Given the description of an element on the screen output the (x, y) to click on. 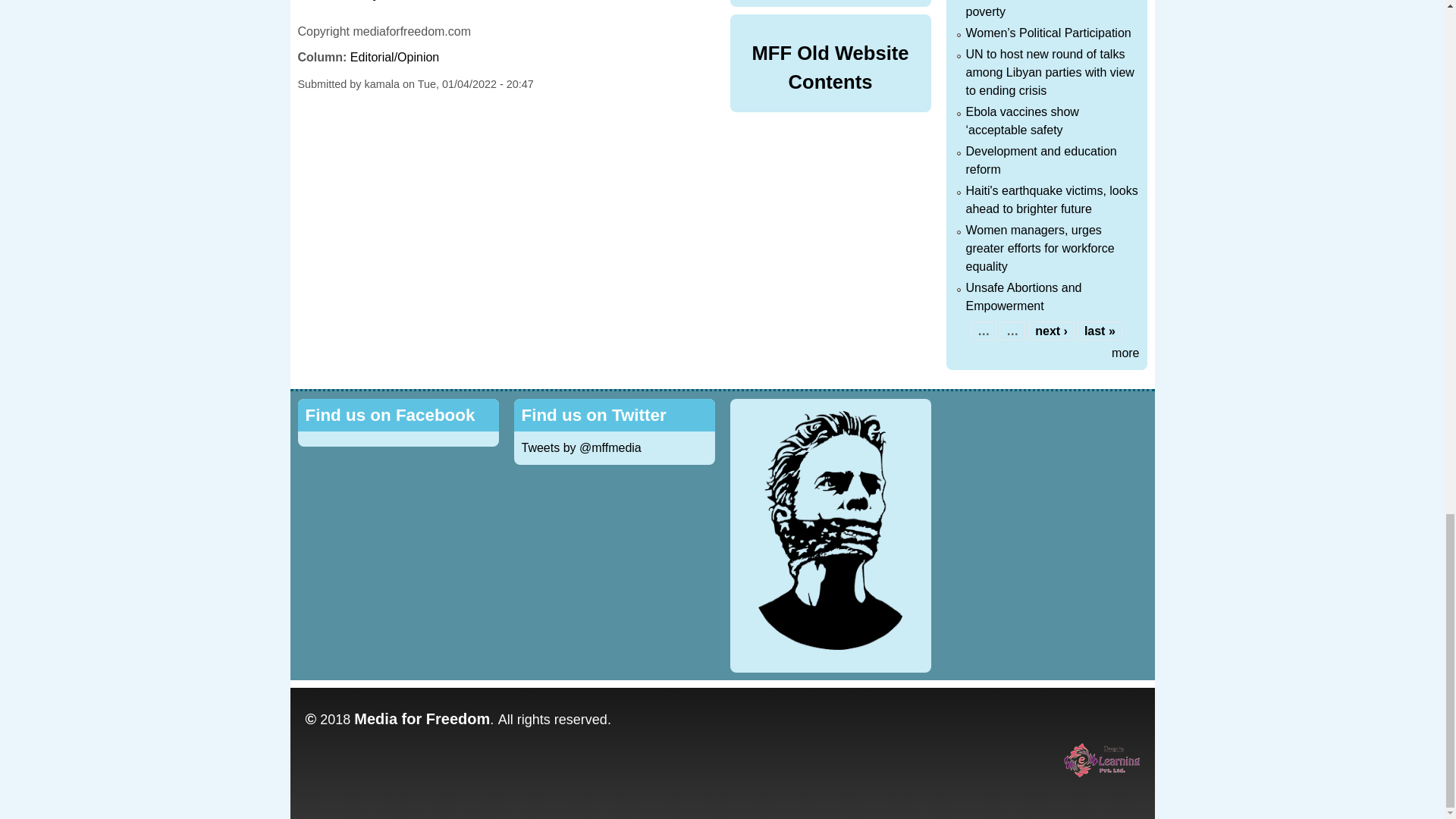
MFF Old Website Contents (829, 67)
Go to next page (1051, 330)
Go to last page (1099, 330)
